Given the description of an element on the screen output the (x, y) to click on. 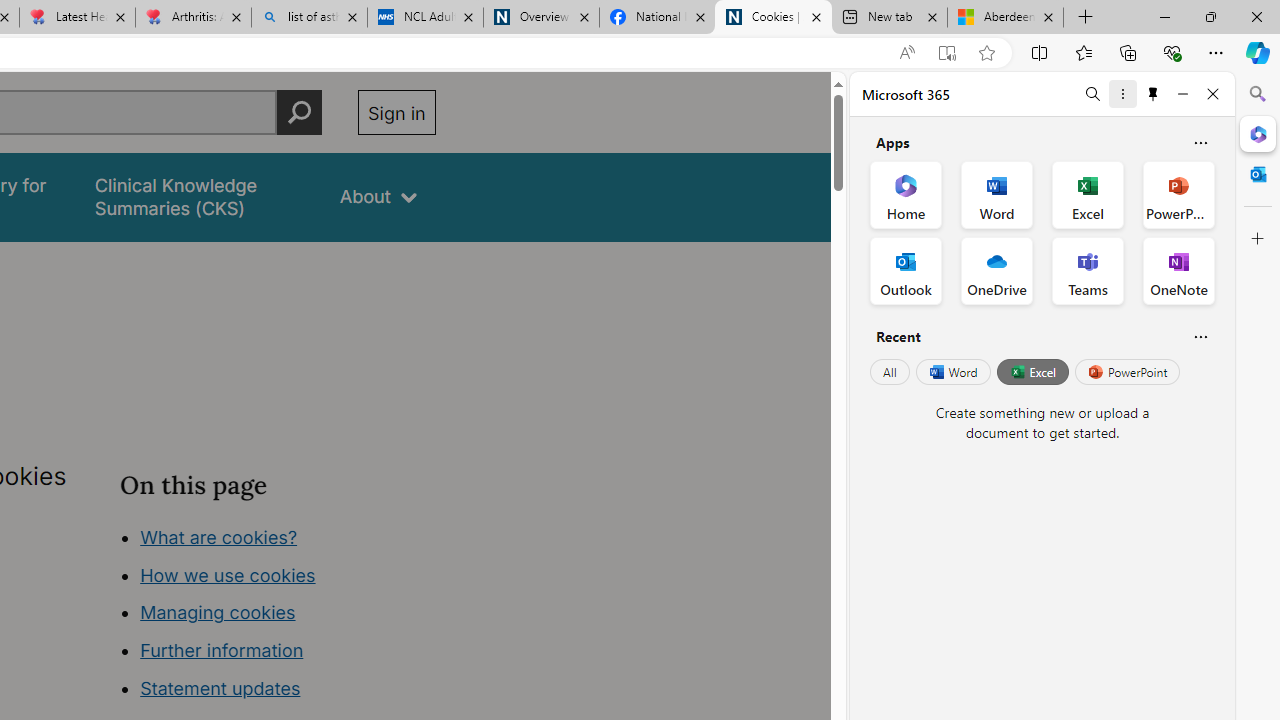
What are cookies? (218, 536)
Further information (221, 650)
Class: in-page-nav__list (277, 615)
Word (952, 372)
PowerPoint (1127, 372)
